Given the description of an element on the screen output the (x, y) to click on. 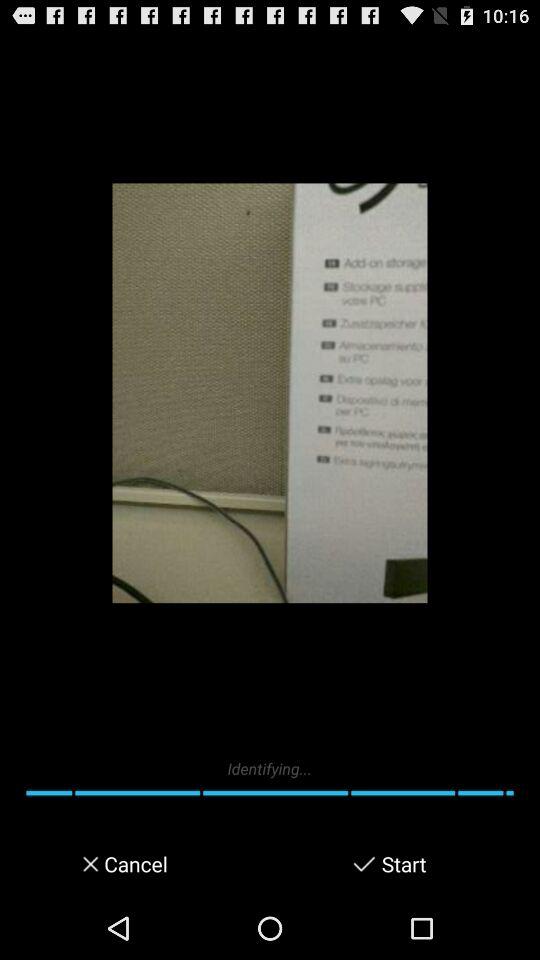
click app to the right of cancel (363, 863)
